Given the description of an element on the screen output the (x, y) to click on. 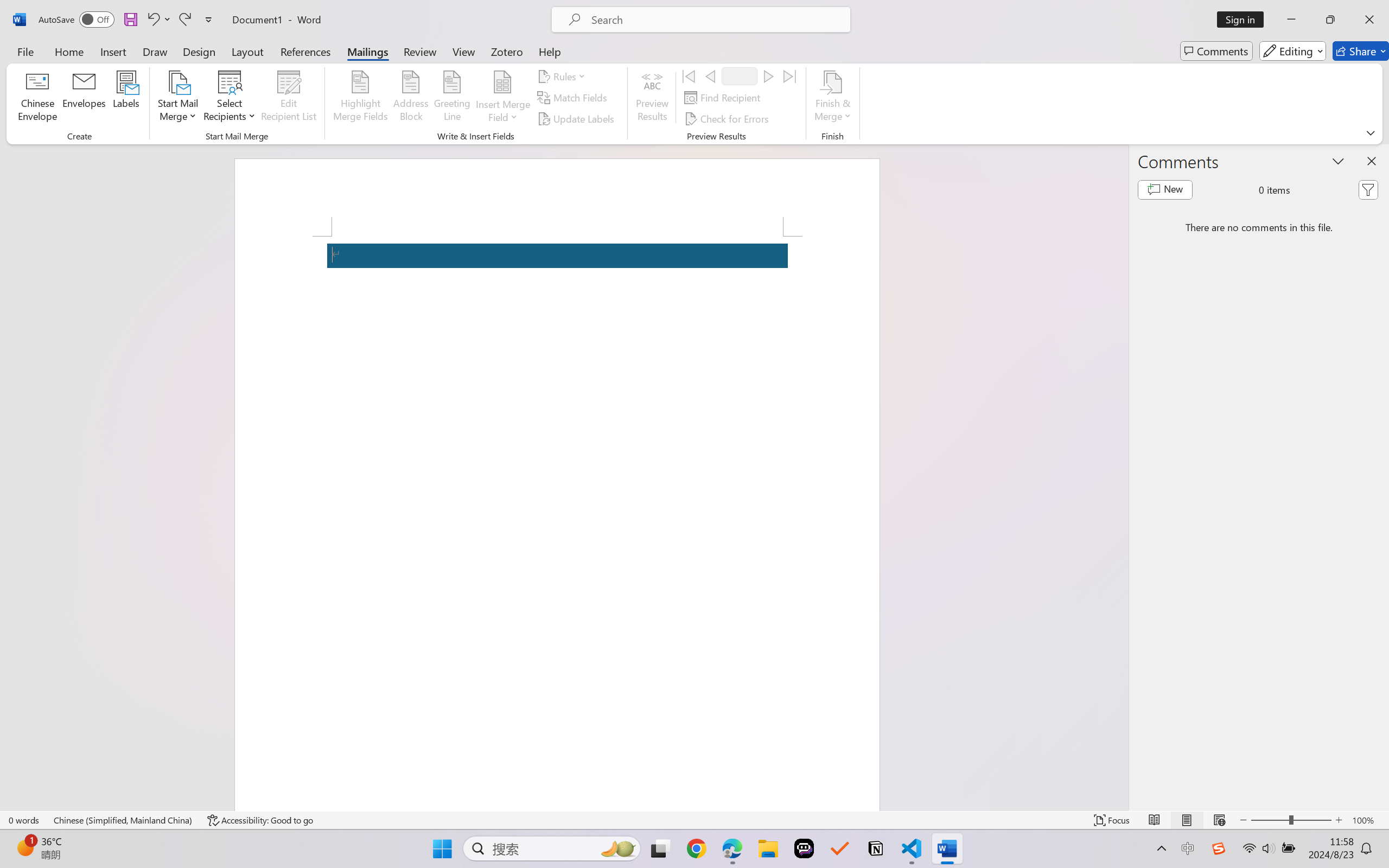
Insert Merge Field (502, 97)
Envelopes... (84, 97)
Editing (1292, 50)
Find Recipient... (723, 97)
Filter (1367, 189)
